Given the description of an element on the screen output the (x, y) to click on. 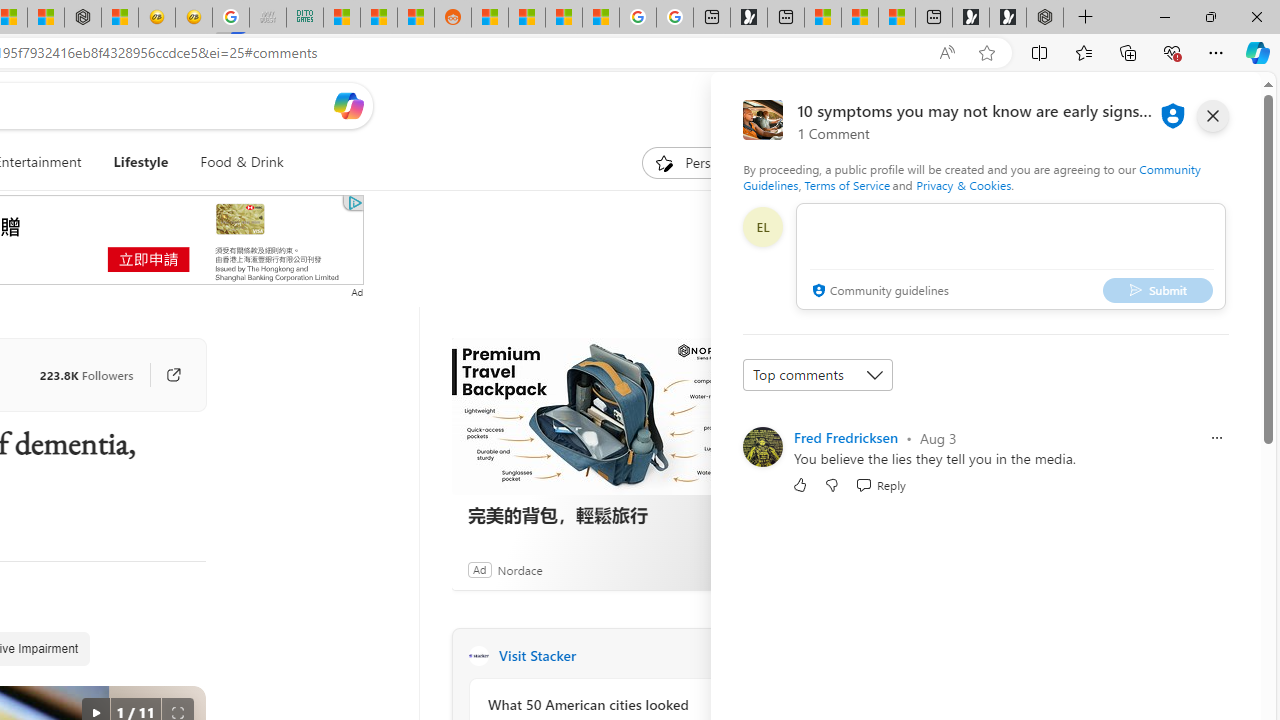
Lifestyle (141, 162)
R******* | Trusted Community Engagement and Contributions (490, 17)
Play Free Online Games | Games from Microsoft Start (1007, 17)
Microsoft rewards (1137, 105)
New tab (934, 17)
Notifications (1176, 105)
Food & Drink (241, 162)
Reply Reply Comment (880, 484)
